Given the description of an element on the screen output the (x, y) to click on. 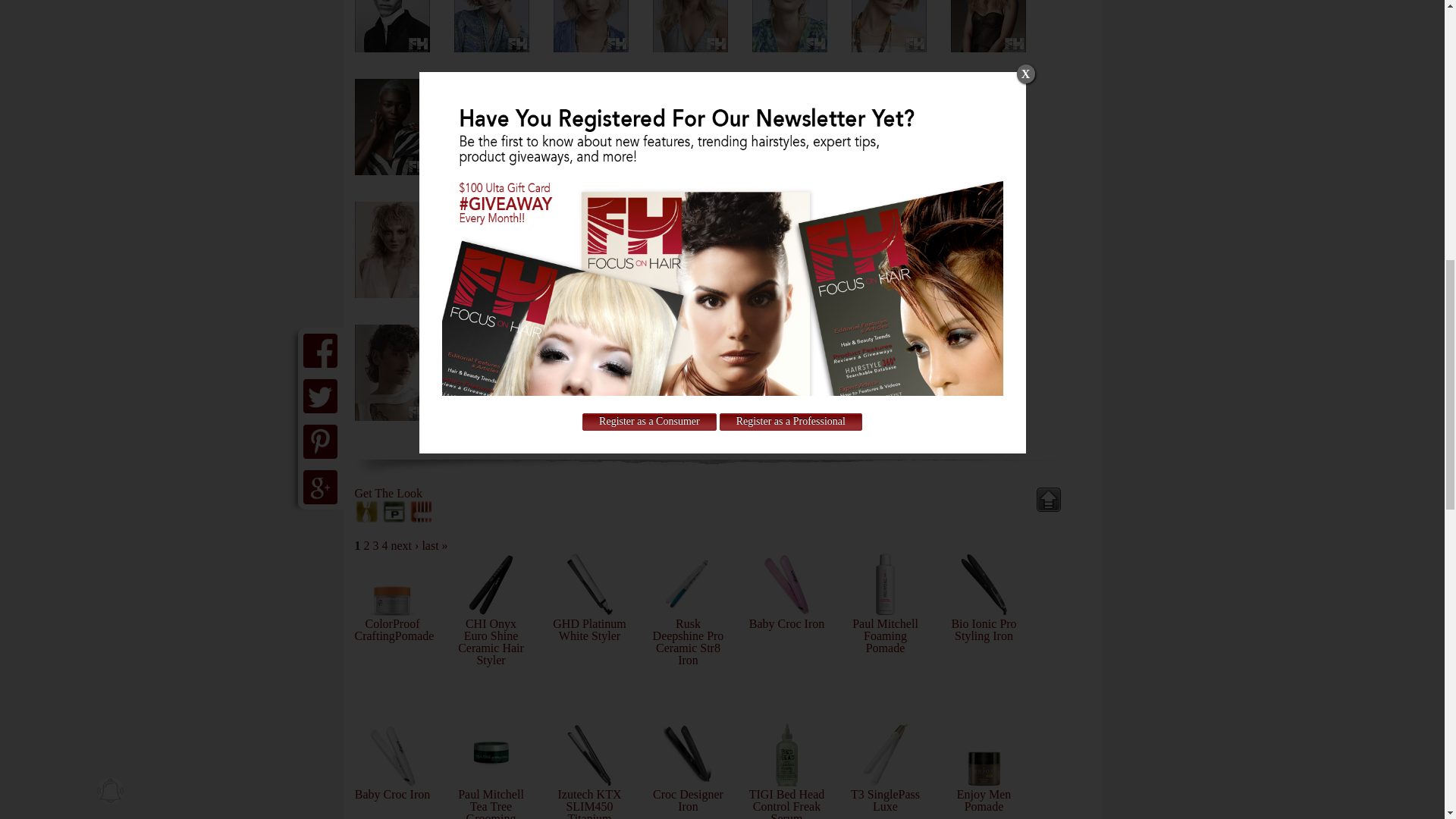
Curl Top (392, 26)
Layered Bob with Movement (590, 26)
Mop Top Curls (490, 26)
